Given the description of an element on the screen output the (x, y) to click on. 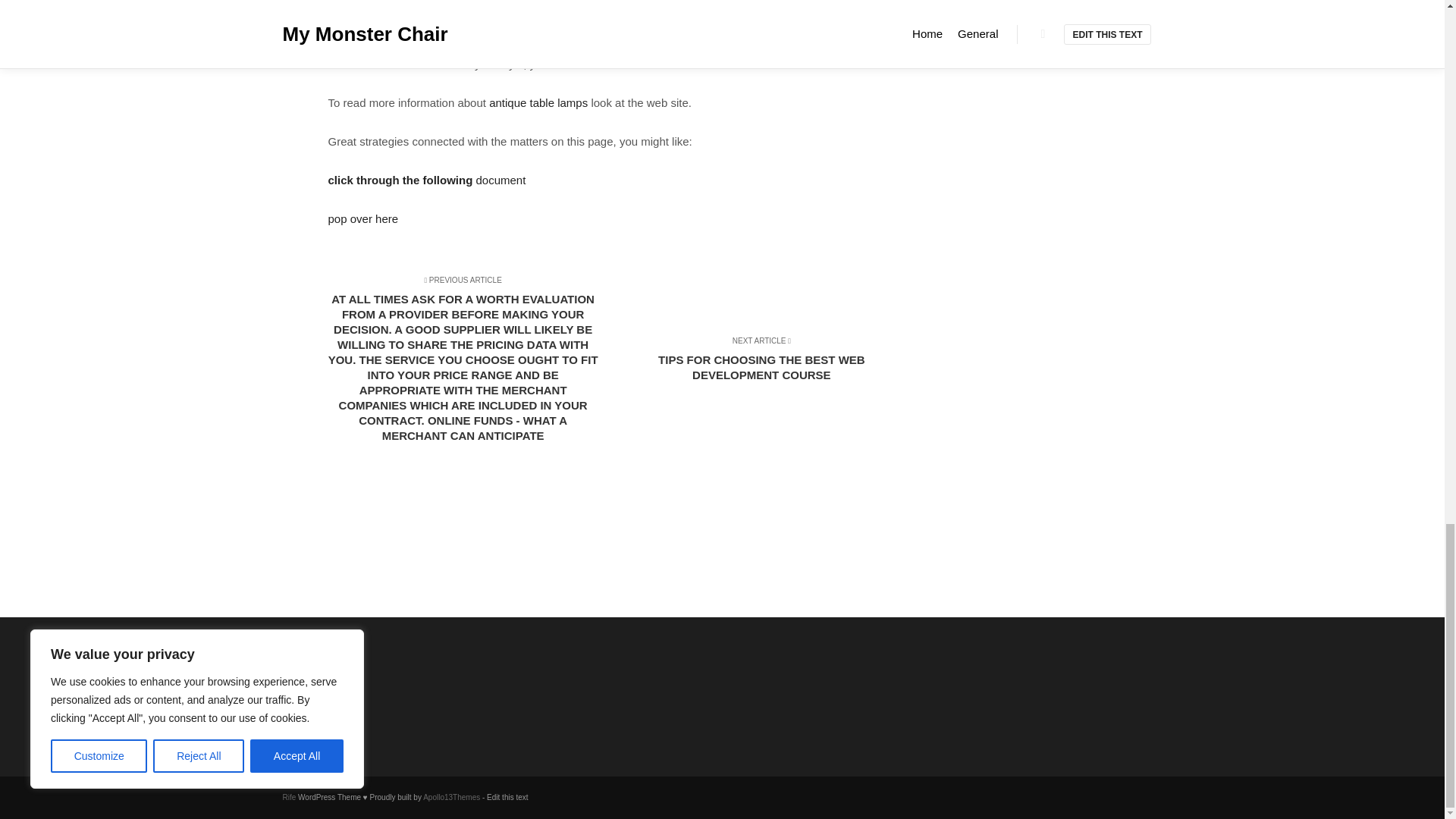
Contact (360, 701)
click through the following document (426, 179)
About (360, 683)
antique table lamps (538, 102)
pop over here (362, 218)
